Given the description of an element on the screen output the (x, y) to click on. 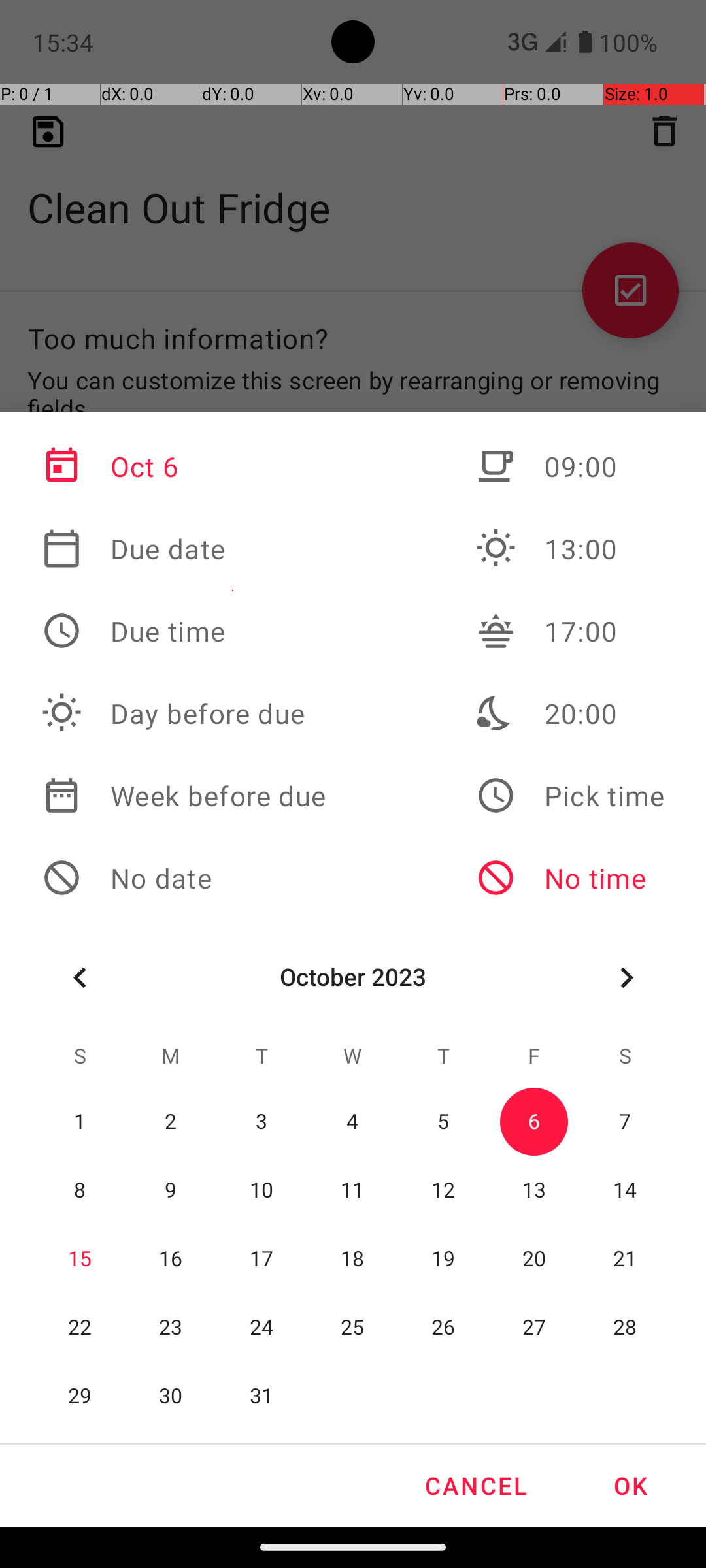
Oct 6 Element type: android.widget.CompoundButton (183, 466)
Due date Element type: android.widget.CompoundButton (183, 548)
Due time Element type: android.widget.CompoundButton (183, 630)
Day before due Element type: android.widget.CompoundButton (183, 713)
Week before due Element type: android.widget.CompoundButton (183, 795)
No date Element type: android.widget.CompoundButton (183, 877)
13:00 Element type: android.widget.CompoundButton (569, 548)
20:00 Element type: android.widget.CompoundButton (569, 713)
No time Element type: android.widget.CompoundButton (569, 877)
